Given the description of an element on the screen output the (x, y) to click on. 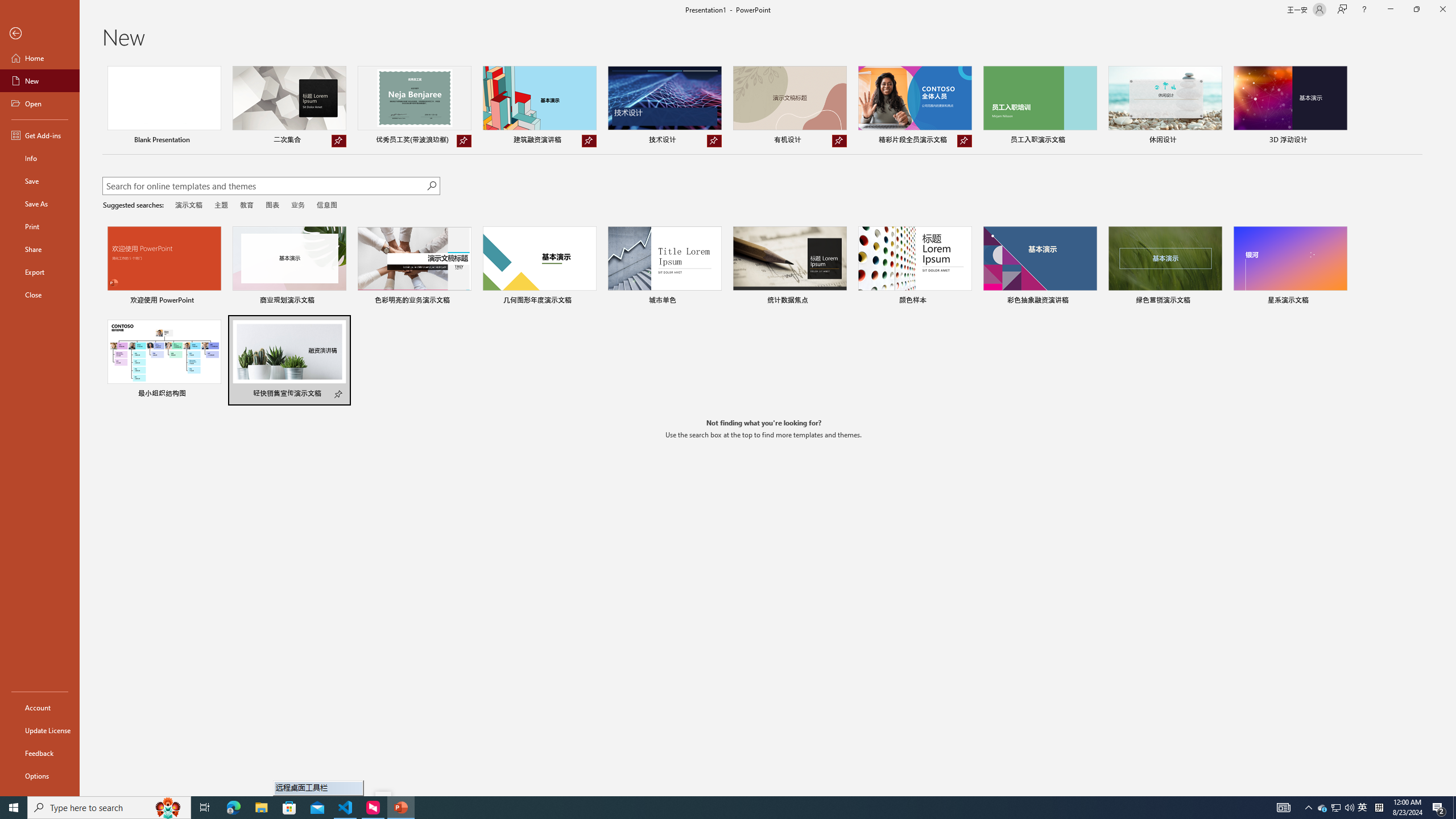
Blank Presentation (164, 106)
Info (40, 157)
Back (40, 33)
Search for online templates and themes (264, 187)
Feedback (40, 753)
Update License (40, 730)
